Given the description of an element on the screen output the (x, y) to click on. 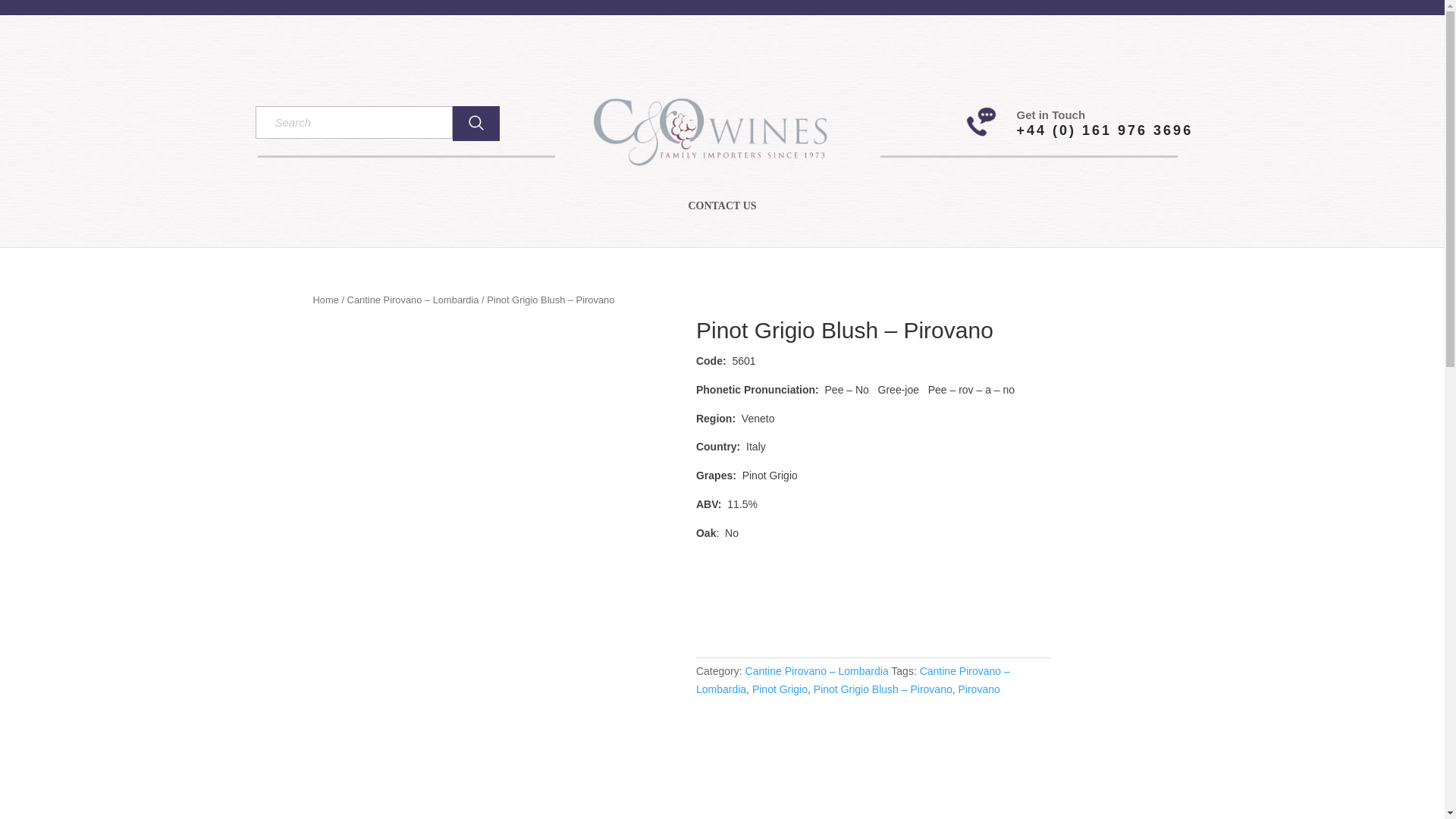
Pinot Grigio (780, 689)
Home (325, 299)
CONTACT US (721, 216)
Pirovano (978, 689)
